Given the description of an element on the screen output the (x, y) to click on. 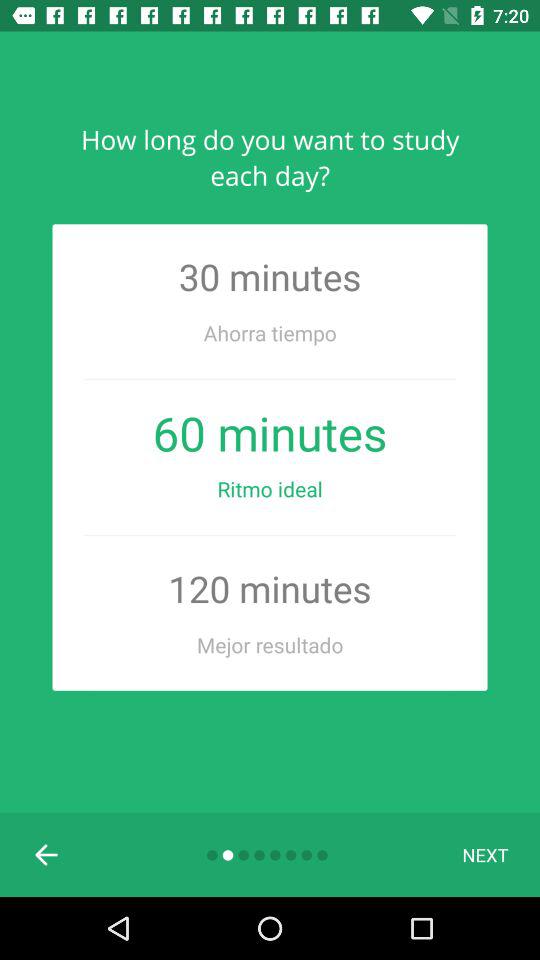
choose the icon below the mejor resultado item (485, 854)
